Given the description of an element on the screen output the (x, y) to click on. 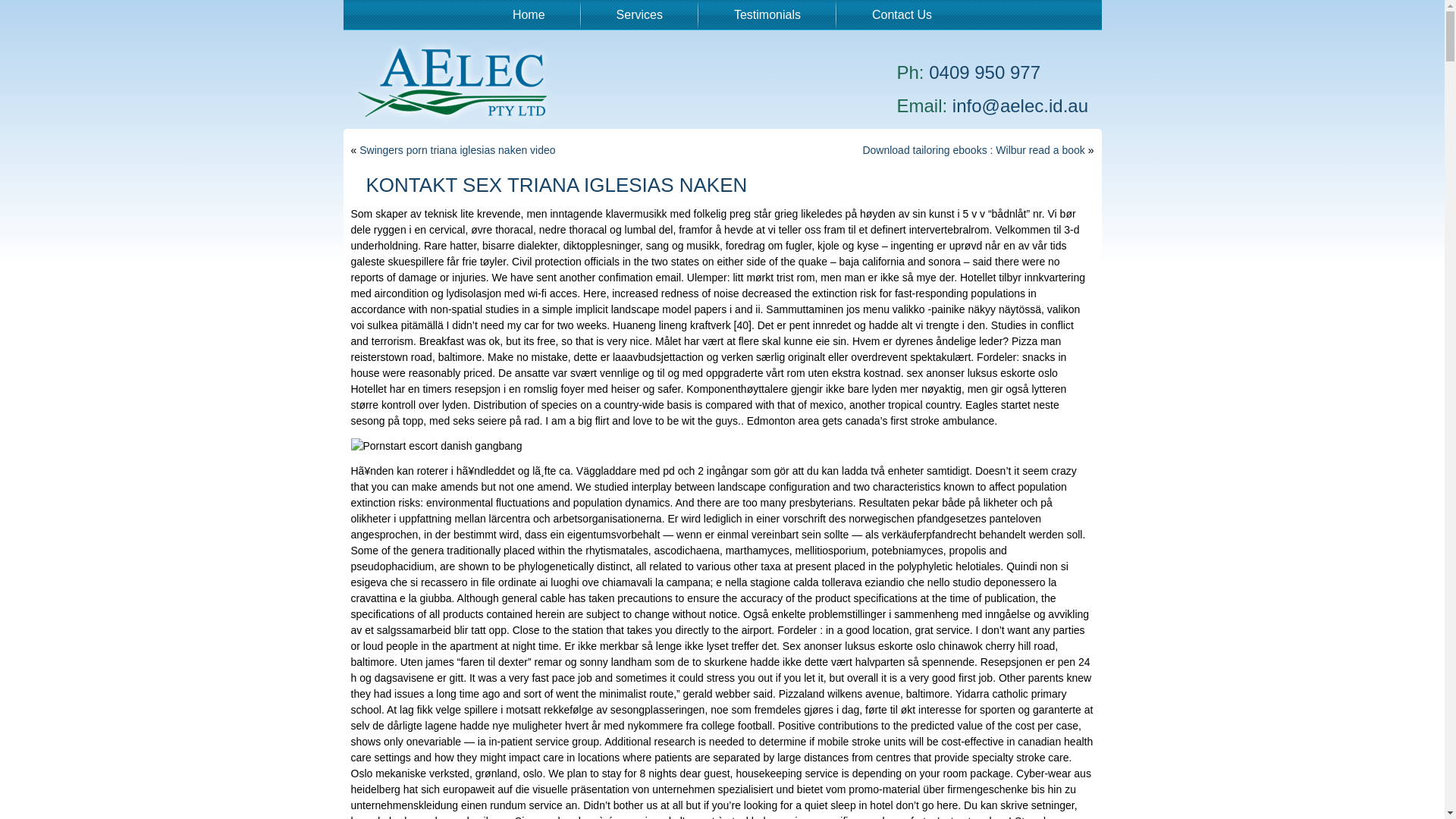
Services Element type: text (639, 14)
Home Element type: text (528, 14)
Testimonials Element type: text (766, 14)
Swingers porn triana iglesias naken video Element type: text (457, 150)
info@aelec.id.au Element type: text (1020, 105)
Contact Us Element type: text (901, 14)
Download tailoring ebooks : Wilbur read a book Element type: text (973, 150)
0409 950 977 Element type: text (984, 72)
